Given the description of an element on the screen output the (x, y) to click on. 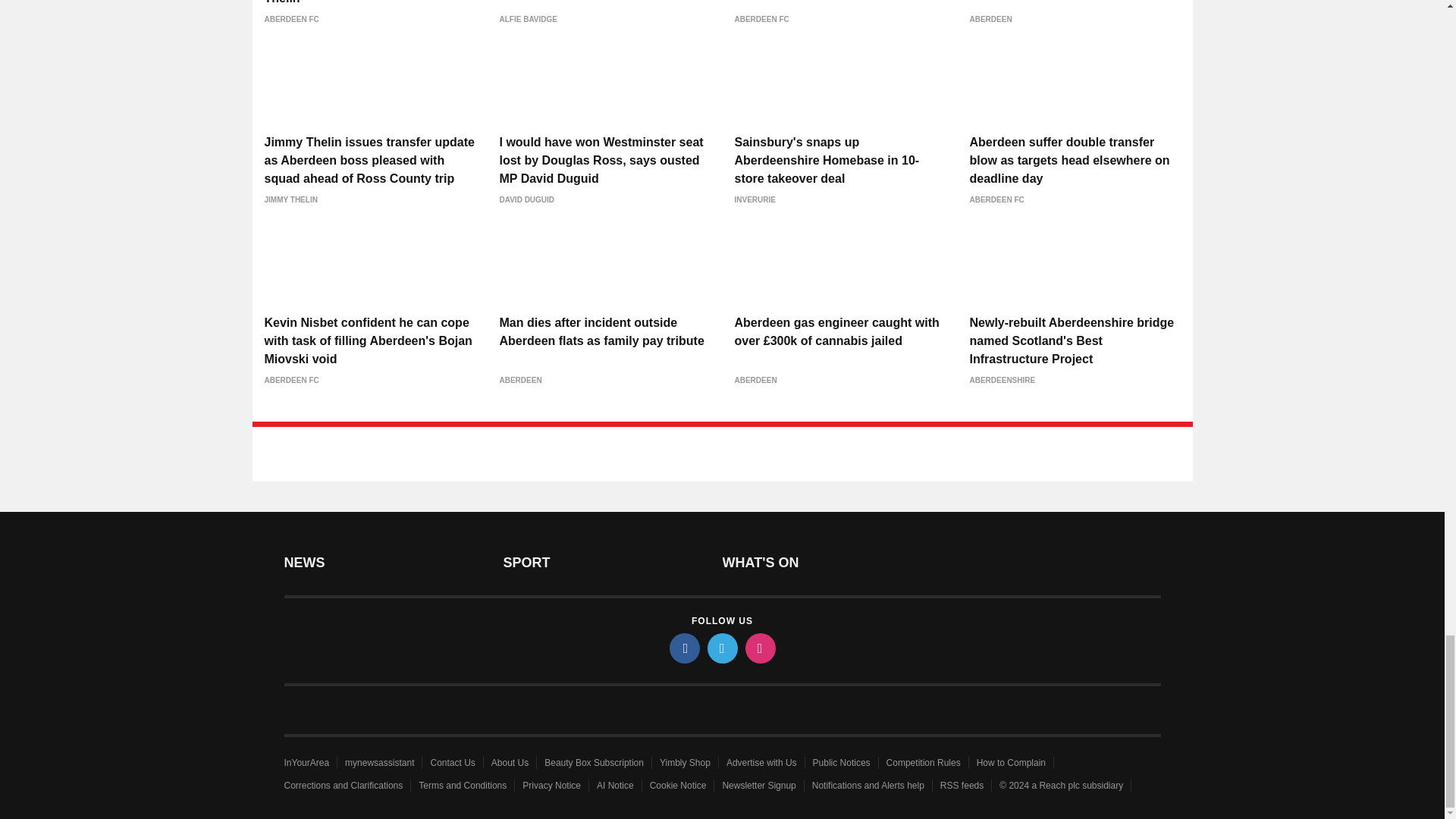
facebook (683, 648)
twitter (721, 648)
instagram (759, 648)
